Given the description of an element on the screen output the (x, y) to click on. 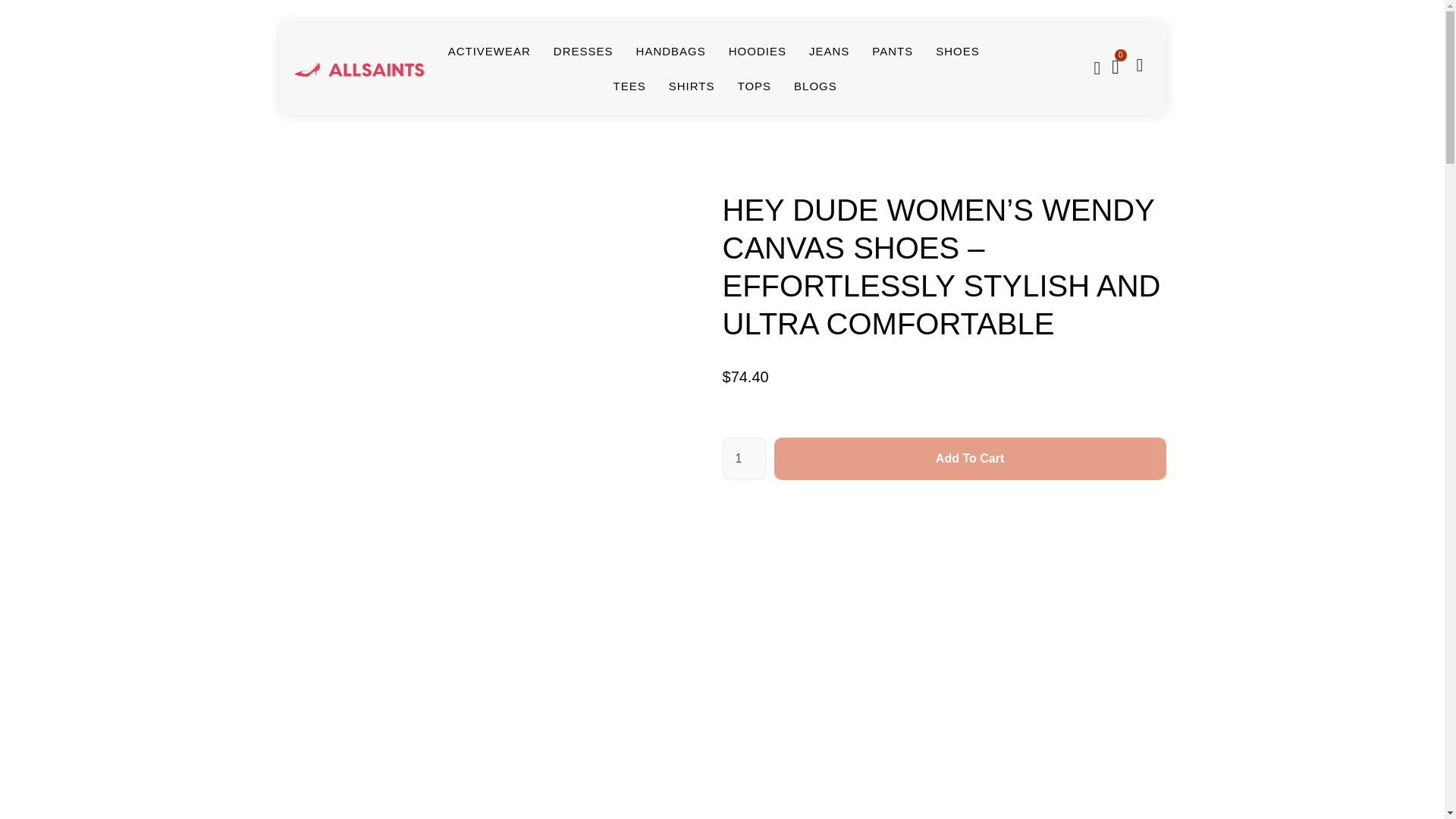
ACTIVEWEAR (489, 51)
HOODIES (757, 51)
SHIRTS (691, 86)
JEANS (828, 51)
SHOES (957, 51)
DRESSES (582, 51)
TOPS (753, 86)
TEES (629, 86)
1 (743, 458)
HANDBAGS (671, 51)
